Given the description of an element on the screen output the (x, y) to click on. 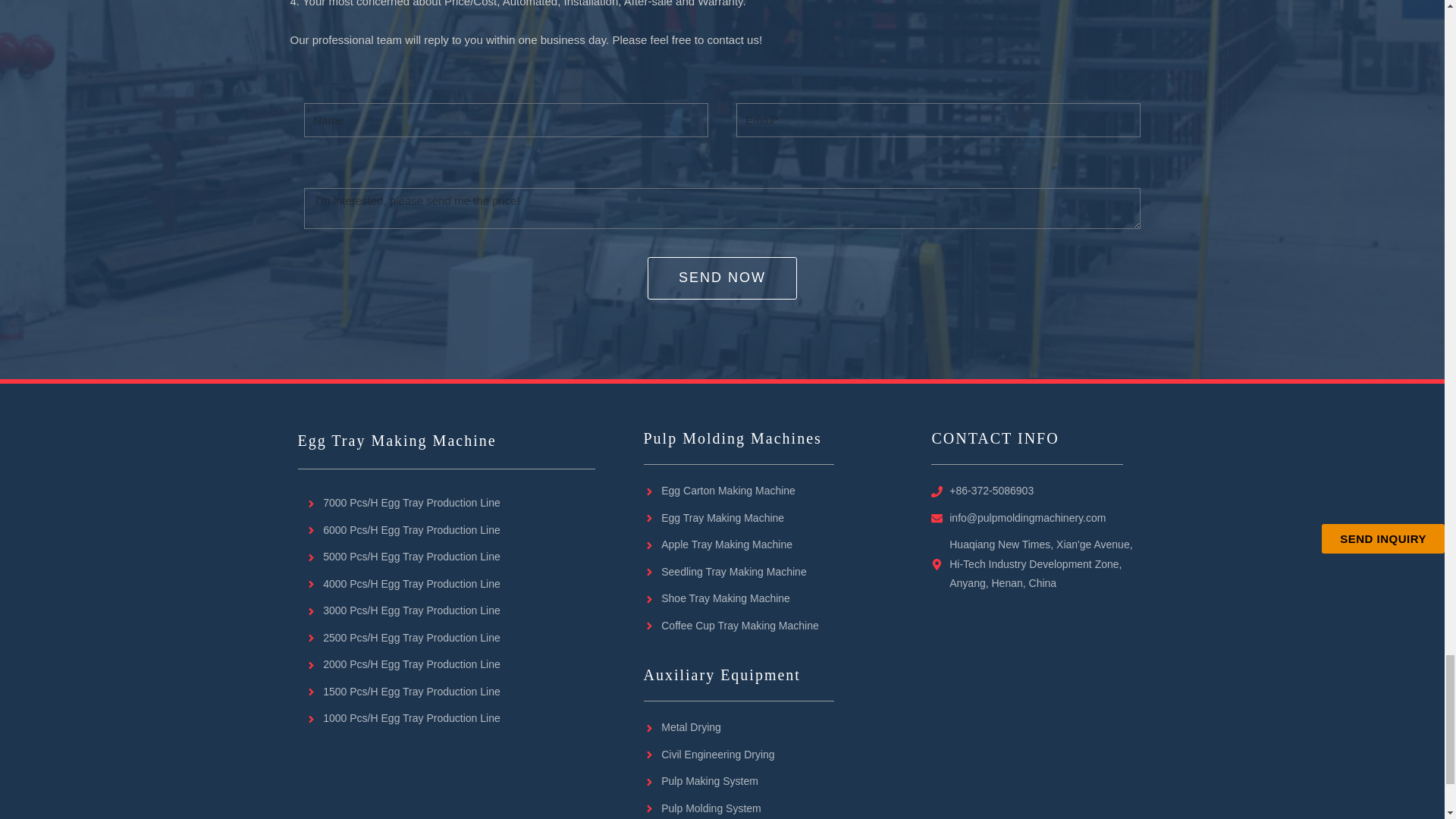
Send Now (721, 277)
